Given the description of an element on the screen output the (x, y) to click on. 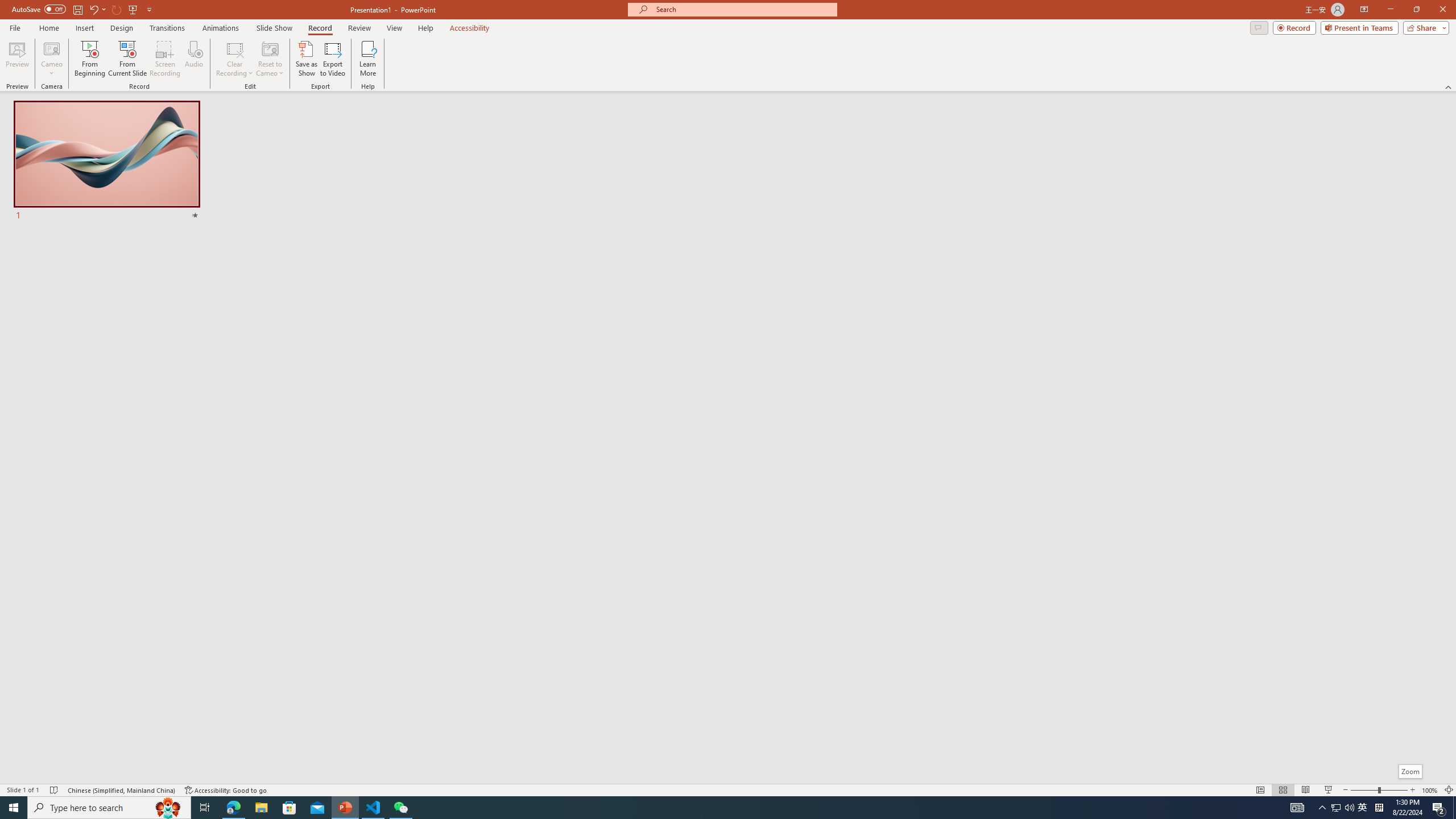
Accessibility Checker Accessibility: Good to go (226, 790)
From Current Slide... (127, 58)
Reset to Cameo (269, 58)
Save as Show (306, 58)
